Given the description of an element on the screen output the (x, y) to click on. 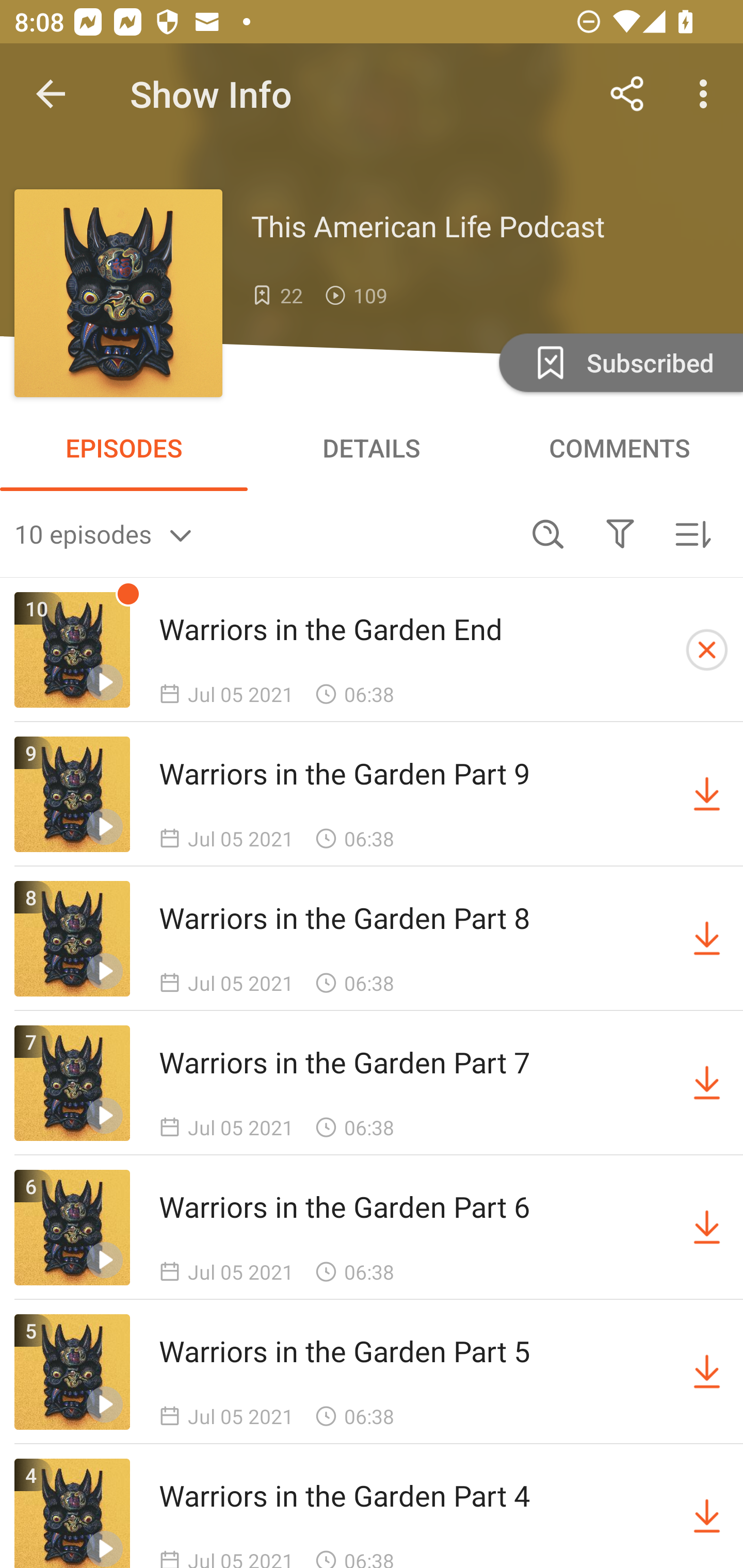
Navigate up (50, 93)
Share (626, 93)
More options (706, 93)
Unsubscribe Subscribed (619, 361)
EPISODES (123, 447)
DETAILS (371, 447)
COMMENTS (619, 447)
10 episodes  (262, 533)
 Search (547, 533)
 (619, 533)
 Sorted by newest first (692, 533)
Cancel Downloading (706, 649)
Download (706, 793)
Download (706, 939)
Download (706, 1083)
Download (706, 1227)
Download (706, 1371)
Download (706, 1513)
